Given the description of an element on the screen output the (x, y) to click on. 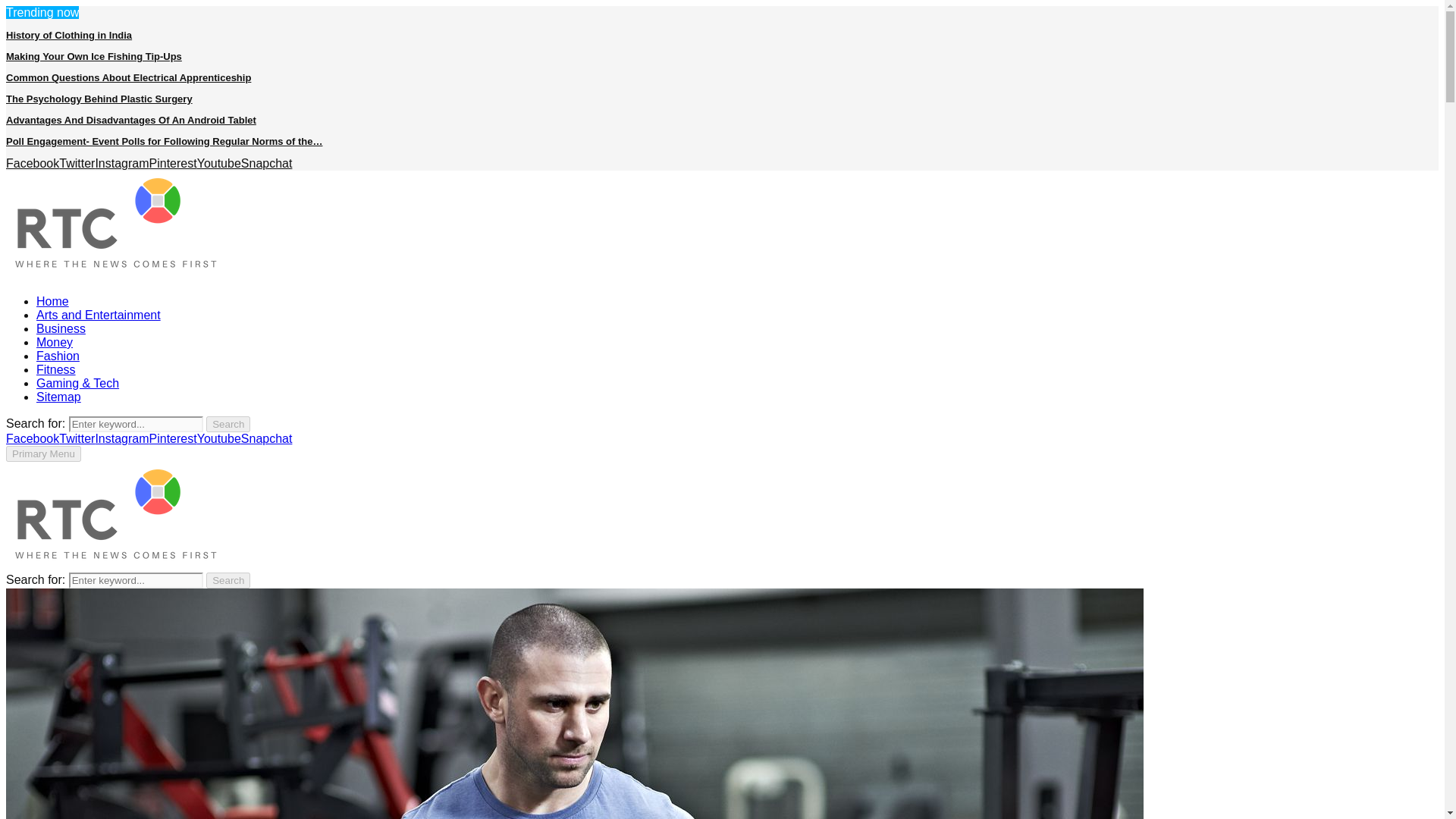
Pinterest (172, 438)
Youtube (218, 438)
Pinterest (172, 438)
Facebook (32, 163)
Instagram (121, 438)
Twitter (76, 163)
Fashion (58, 355)
Instagram (121, 438)
Fitness (55, 369)
Twitter (76, 163)
